Given the description of an element on the screen output the (x, y) to click on. 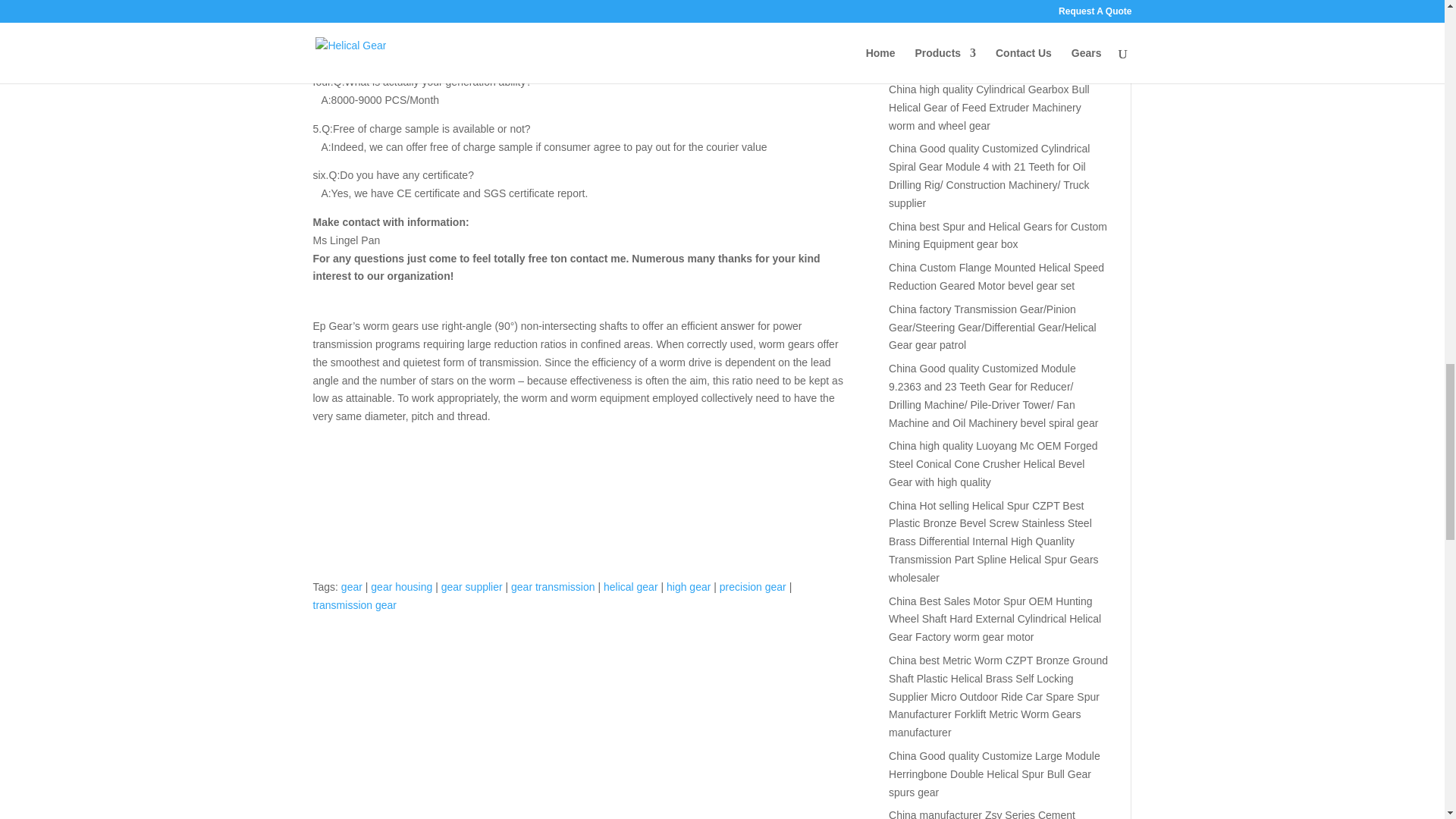
gear supplier (471, 586)
gear housing (401, 586)
gear transmission (553, 586)
precision gear (752, 586)
helical gear (631, 586)
high gear (688, 586)
transmission gear (354, 604)
gear (351, 586)
